Given the description of an element on the screen output the (x, y) to click on. 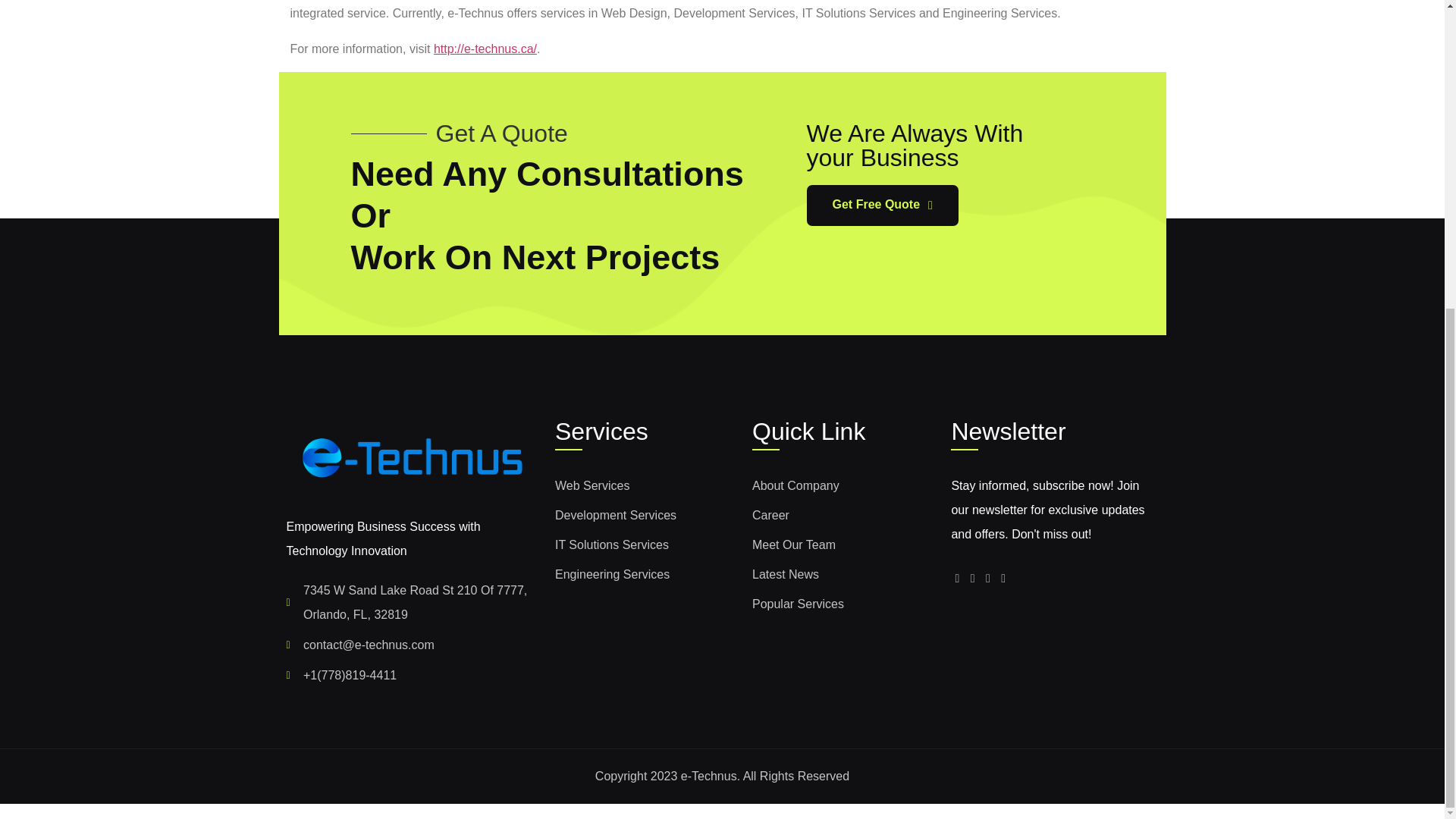
IT Solutions Services (645, 545)
Web Services (645, 485)
Get Free Quote (882, 205)
Career (844, 515)
About Company (844, 485)
Development Services (645, 515)
Engineering Services (645, 574)
